Given the description of an element on the screen output the (x, y) to click on. 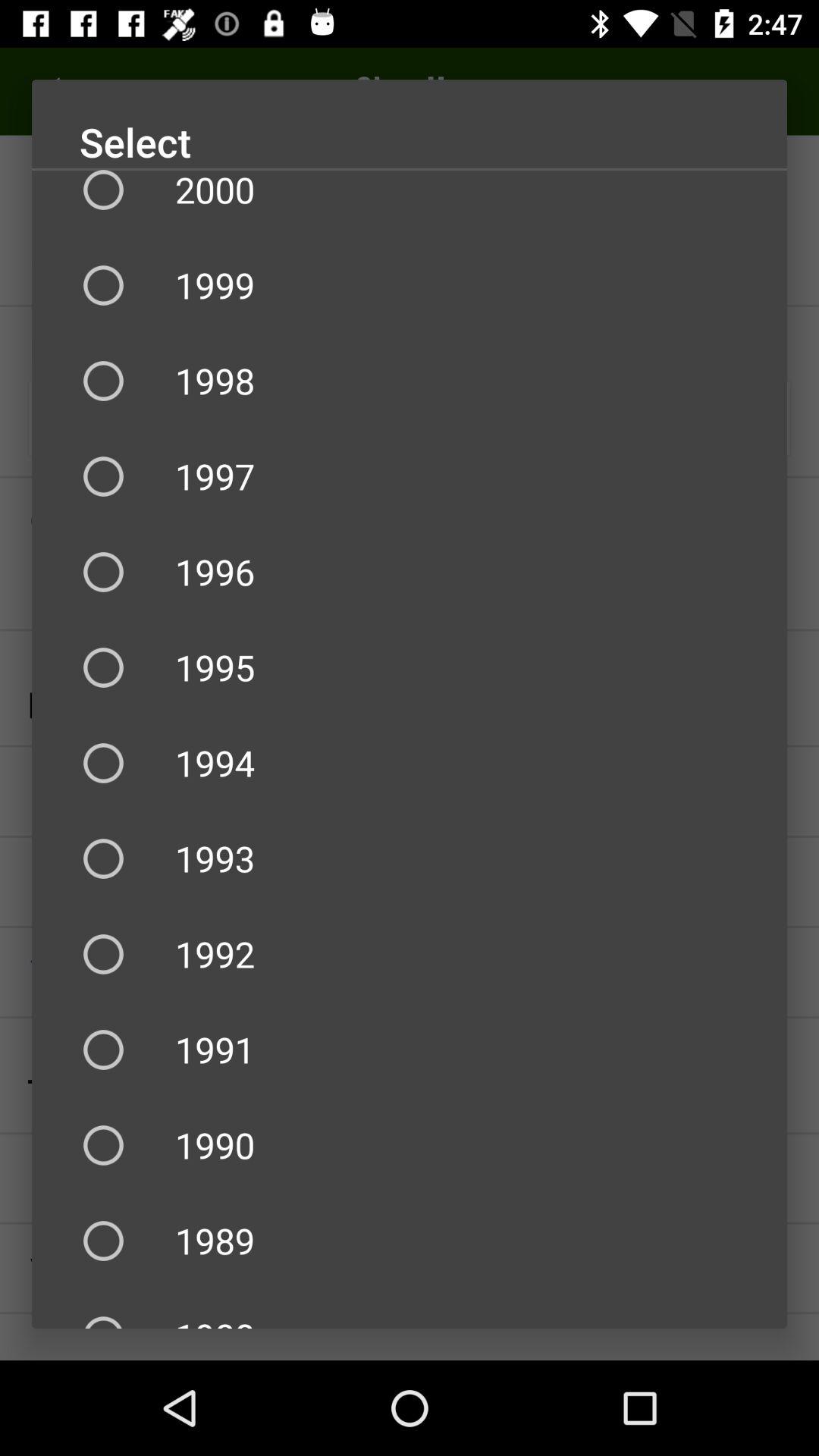
click icon above the 1989 item (409, 1145)
